Given the description of an element on the screen output the (x, y) to click on. 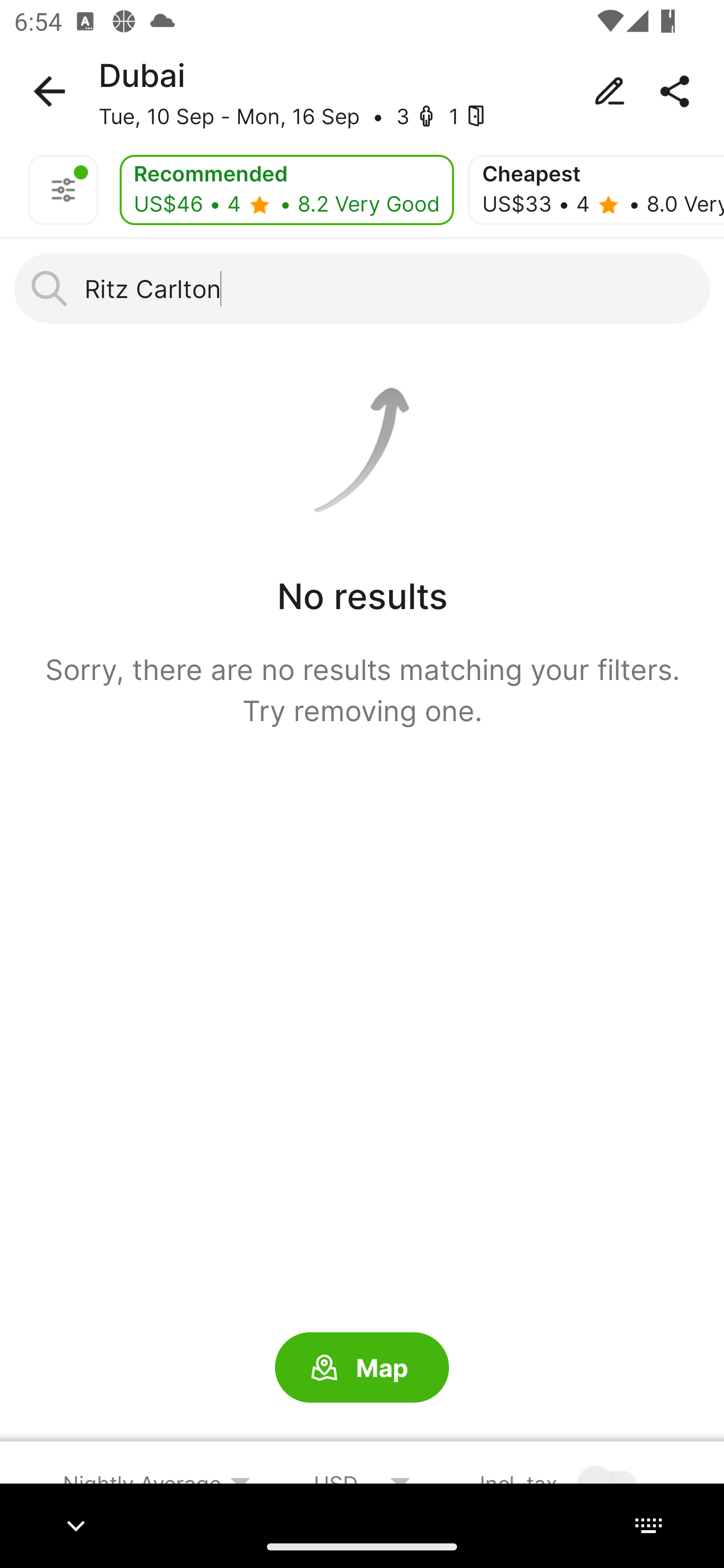
Dubai Tue, 10 Sep - Mon, 16 Sep  •  3 -  1 - (361, 91)
Recommended  US$46  • 4 - • 8.2 Very Good (286, 190)
Cheapest US$33  • 4 - • 8.0 Very Good (596, 190)
Ritz Carlton (361, 288)
Map  (361, 1367)
